Given the description of an element on the screen output the (x, y) to click on. 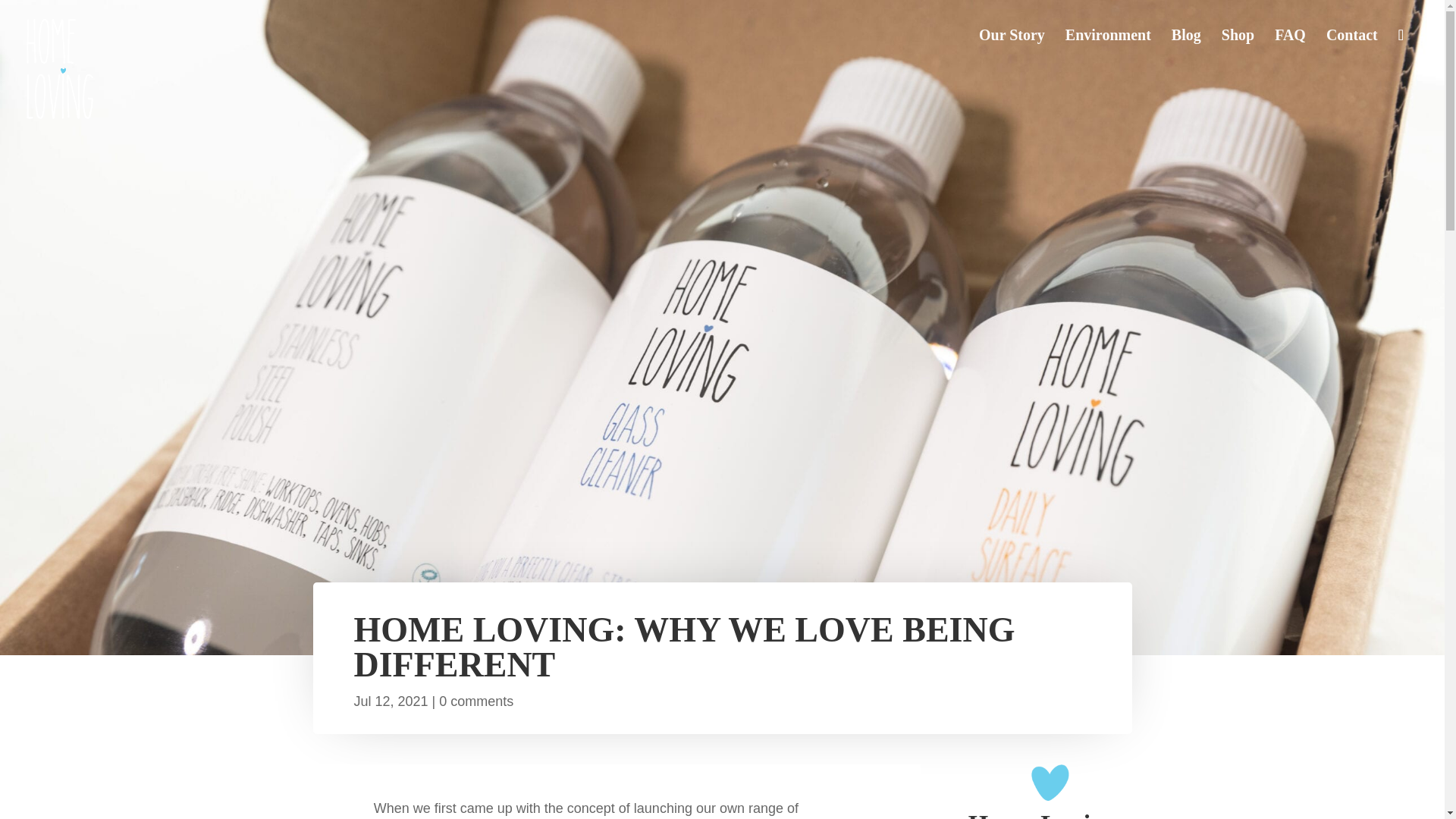
Environment (1108, 55)
Love Heart HL Blue (1049, 782)
0 comments (476, 701)
Our Story (1011, 55)
Contact (1351, 55)
